Given the description of an element on the screen output the (x, y) to click on. 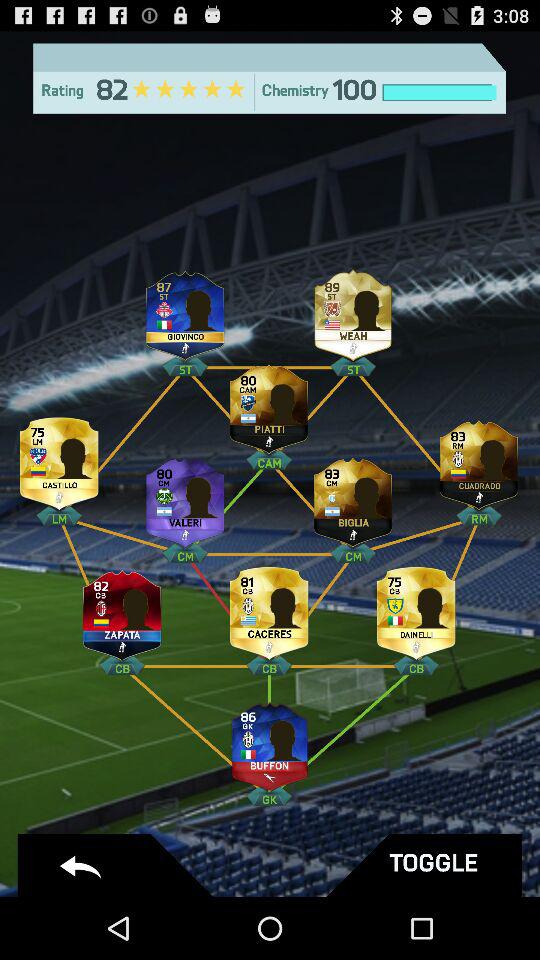
change player (353, 310)
